Given the description of an element on the screen output the (x, y) to click on. 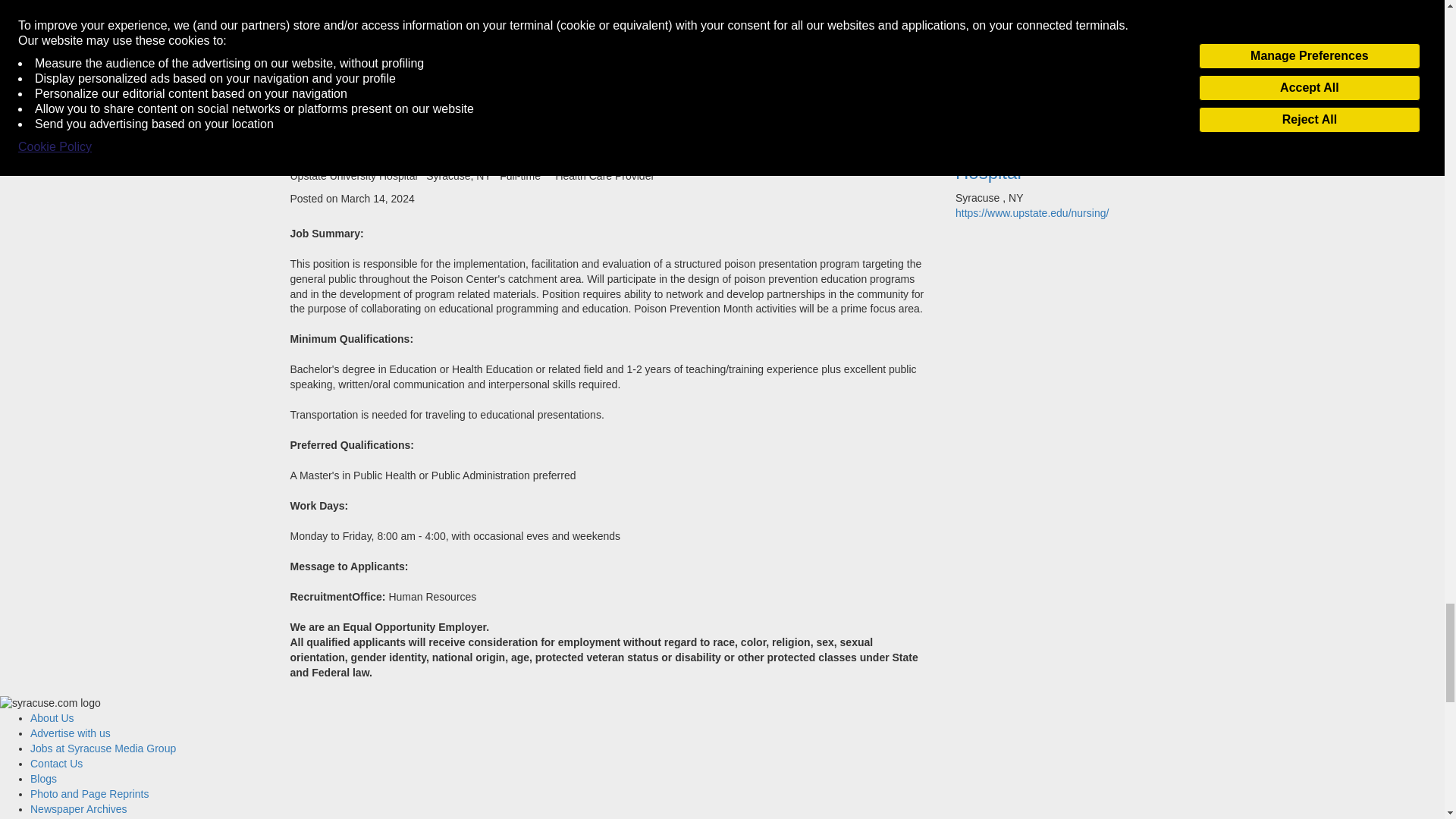
Contact Us (56, 763)
